Given the description of an element on the screen output the (x, y) to click on. 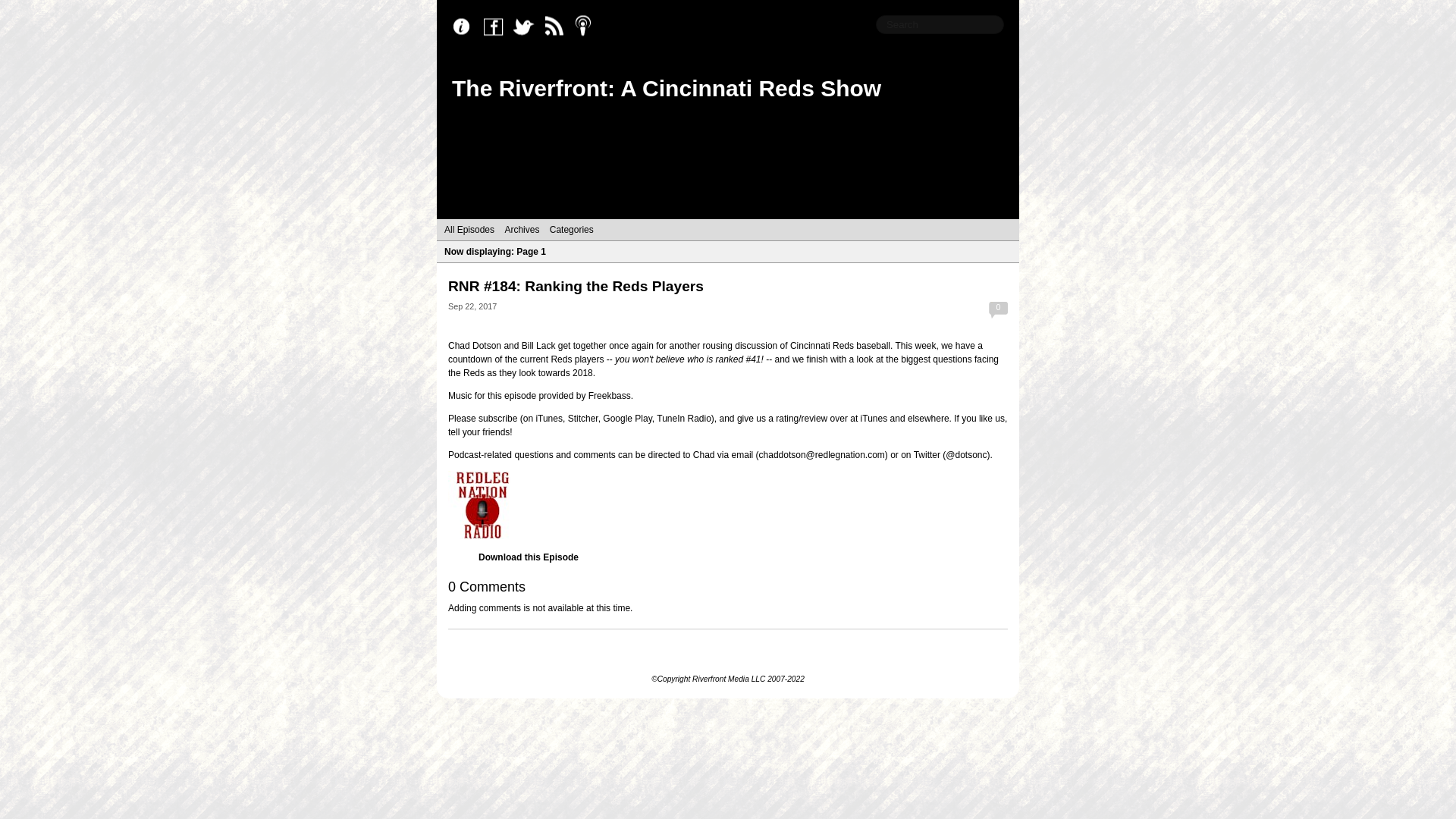
Facebook (496, 26)
Subscribe in Apple Podcasts (588, 26)
RSS Feed (558, 26)
Twitter (527, 26)
Libsyn Player (727, 504)
The Riverfront: A Cincinnati Reds Show (665, 88)
